Given the description of an element on the screen output the (x, y) to click on. 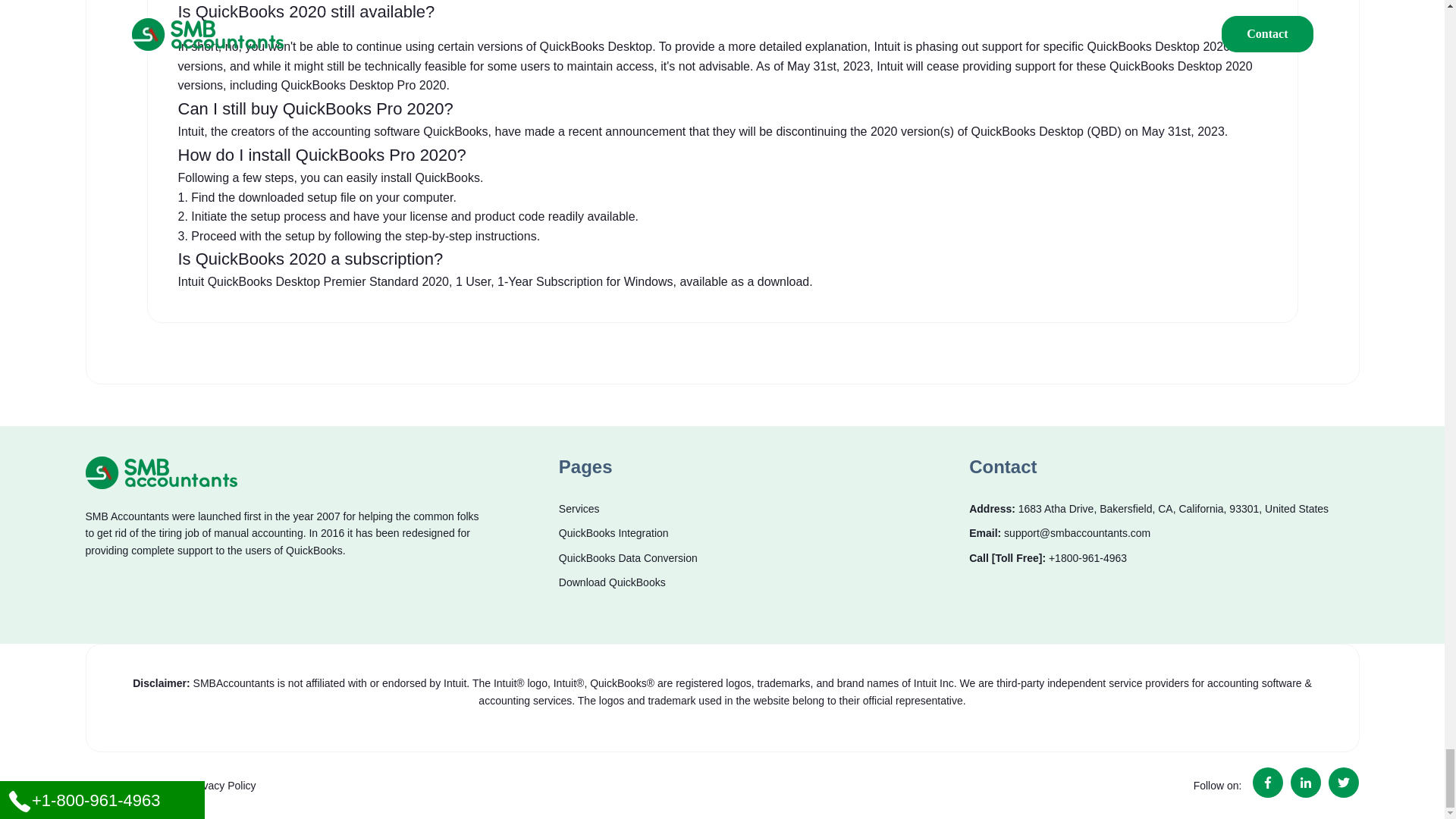
SMB Accountants (159, 472)
Services (579, 508)
Privacy Policy (222, 785)
QuickBooks Integration (613, 532)
QuickBooks Data Conversion (628, 558)
Terms and Services (130, 785)
Download QuickBooks (612, 582)
